Given the description of an element on the screen output the (x, y) to click on. 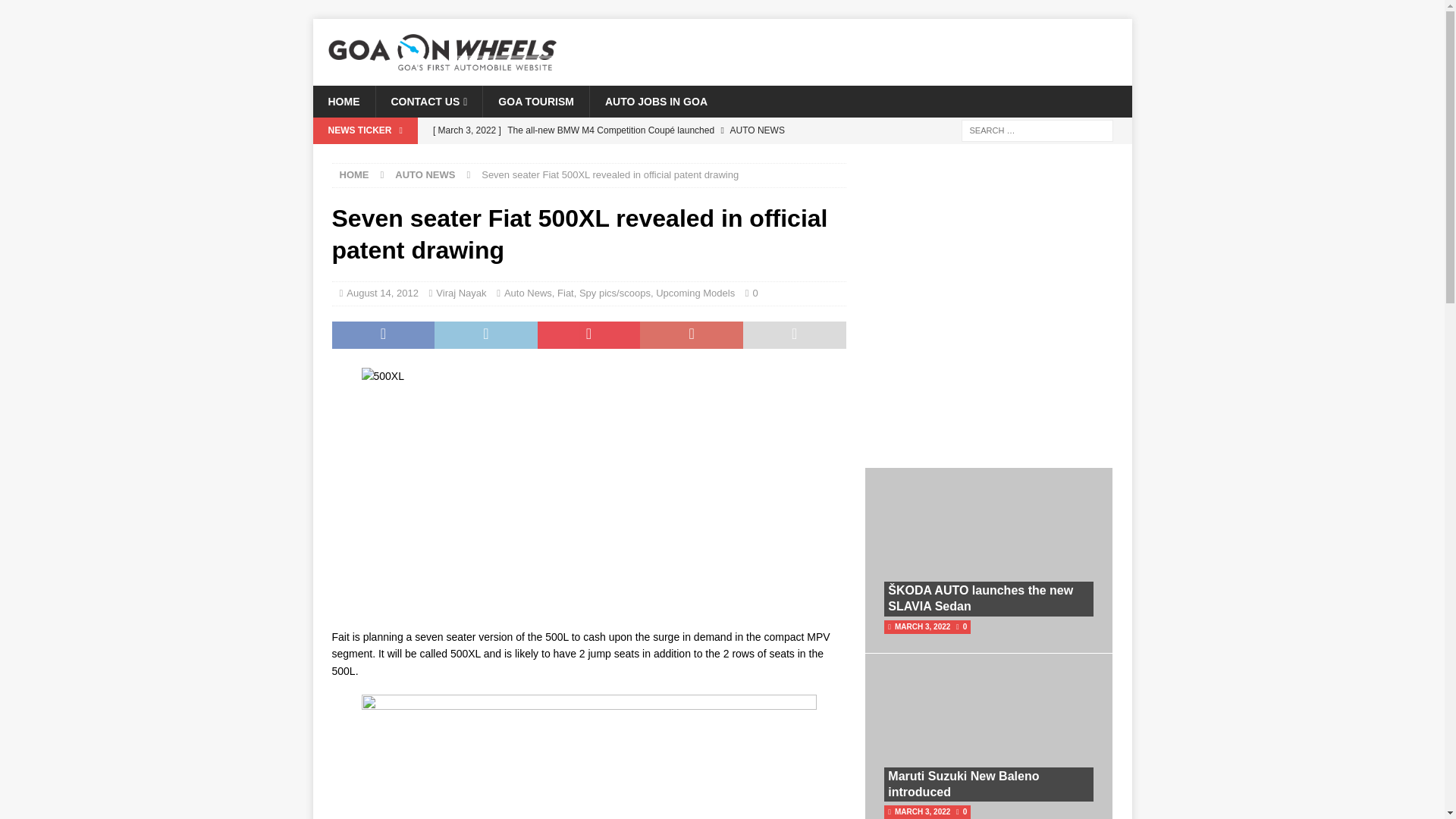
GOA TOURISM (535, 101)
Fiat (565, 292)
SP Cars appointed as new dealer for Tata Motors Goa (634, 155)
Search (56, 11)
CONTACT US (427, 101)
0 (755, 292)
HOME (354, 174)
Viraj Nayak (460, 292)
Upcoming Models (695, 292)
AUTO JOBS IN GOA (655, 101)
0 (755, 292)
Auto News (527, 292)
AUTO NEWS (424, 174)
HOME (343, 101)
August 14, 2012 (382, 292)
